Given the description of an element on the screen output the (x, y) to click on. 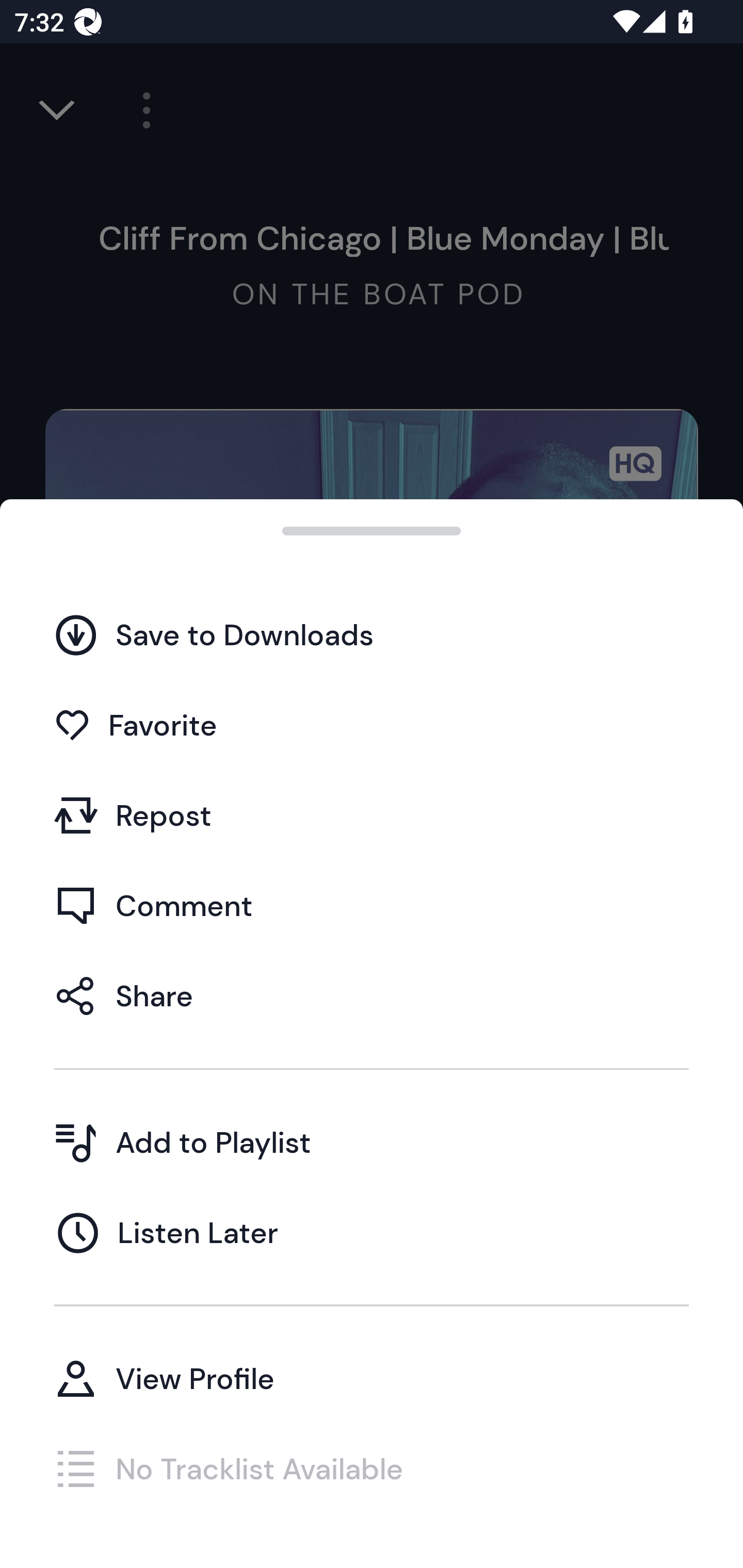
Close full player (58, 110)
Player more options button (139, 110)
Save to Downloads (371, 634)
Favorite (371, 724)
Repost (371, 814)
Comment (371, 905)
Share (371, 995)
Add to Playlist (371, 1141)
Listen Later (371, 1231)
View Profile (371, 1377)
No Tracklist Available (371, 1468)
